Given the description of an element on the screen output the (x, y) to click on. 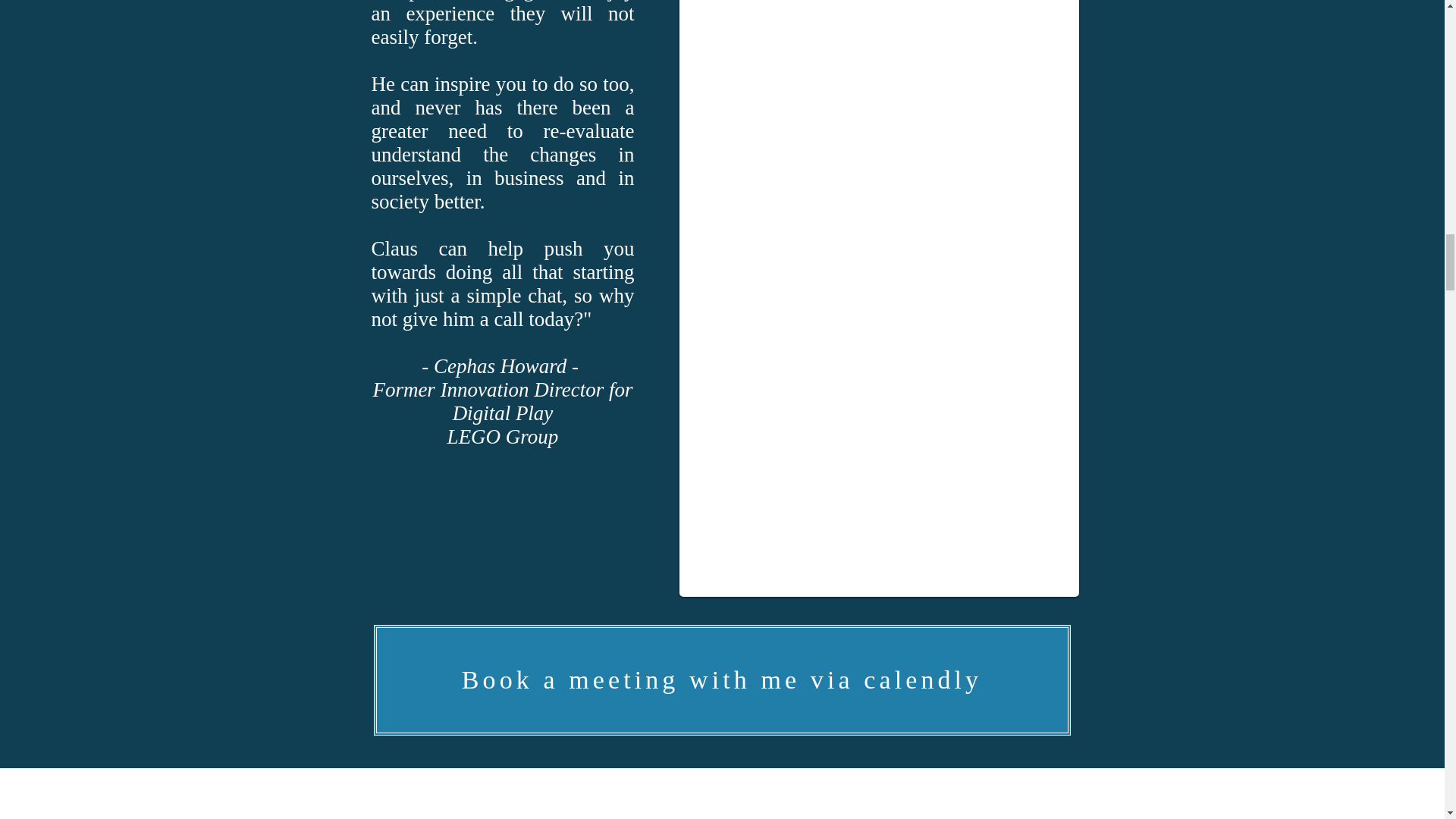
Book a meeting with me via calendly (721, 679)
